Given the description of an element on the screen output the (x, y) to click on. 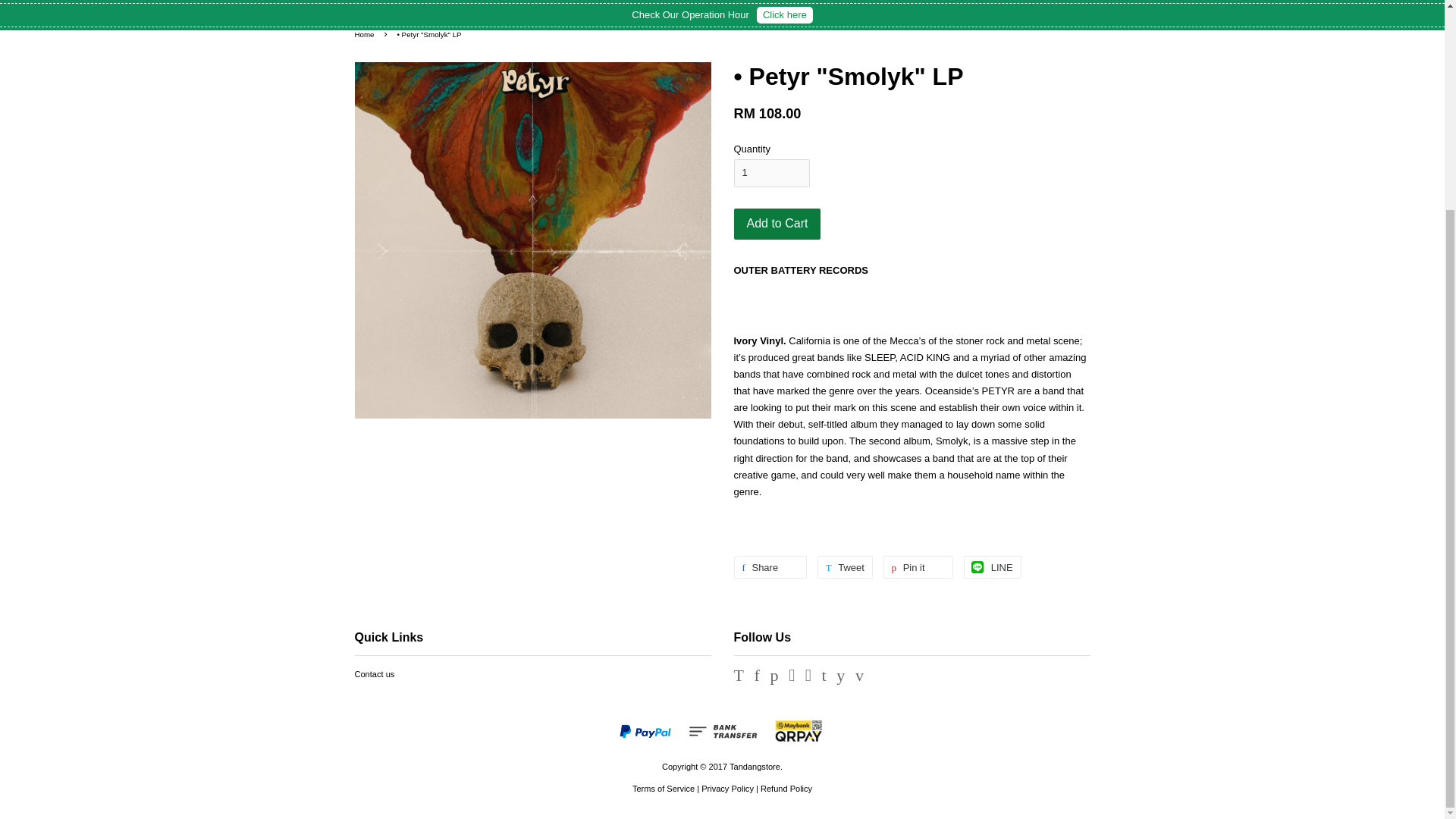
tandangstore on Twitter (738, 677)
icon-line (977, 566)
tandangstore on YouTube (839, 677)
tandangstore on Vimeo (859, 677)
Back to the homepage (366, 34)
tandangstore on Pinterest (774, 677)
1 (771, 172)
